Given the description of an element on the screen output the (x, y) to click on. 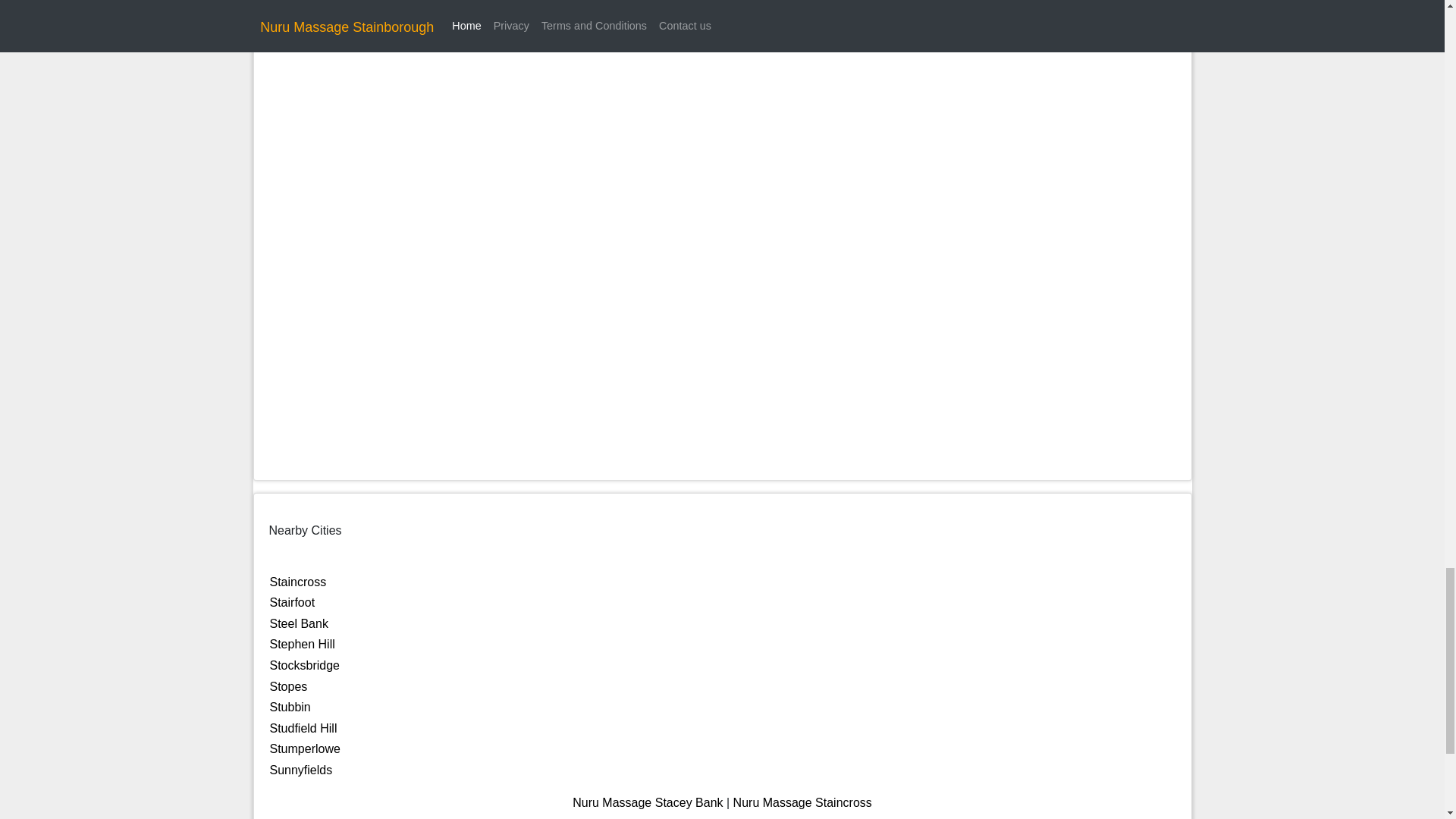
Stubbin (290, 707)
Stairfoot (292, 602)
Stumperlowe (304, 748)
Staincross (297, 581)
Studfield Hill (303, 727)
Sunnyfields (301, 769)
Nuru Massage Staincross (802, 802)
Stopes (288, 686)
Stephen Hill (301, 644)
Stocksbridge (304, 665)
Nuru Massage Stacey Bank (647, 802)
Steel Bank (299, 623)
